Given the description of an element on the screen output the (x, y) to click on. 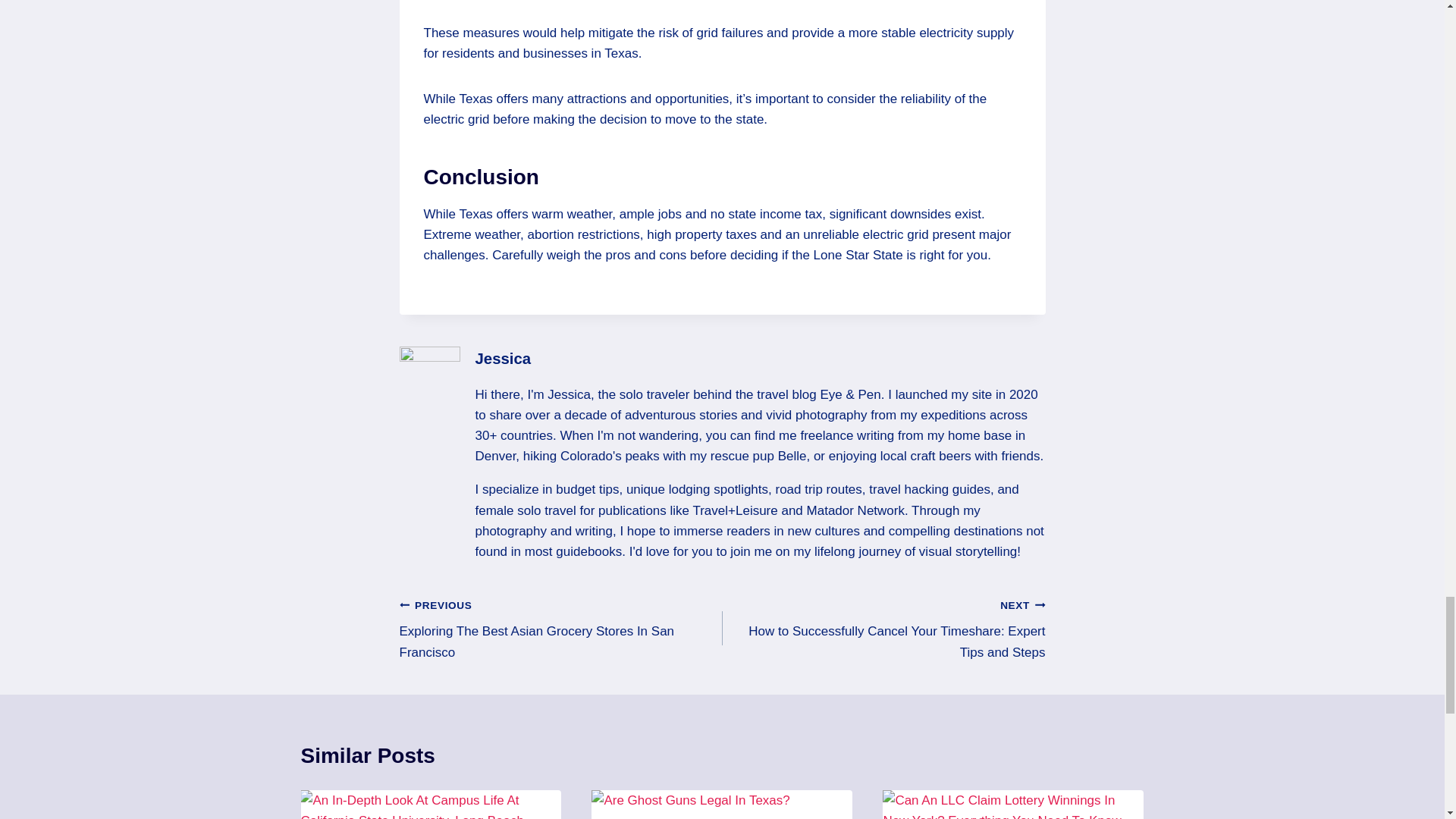
Posts by Jessica (502, 358)
Jessica (502, 358)
